Given the description of an element on the screen output the (x, y) to click on. 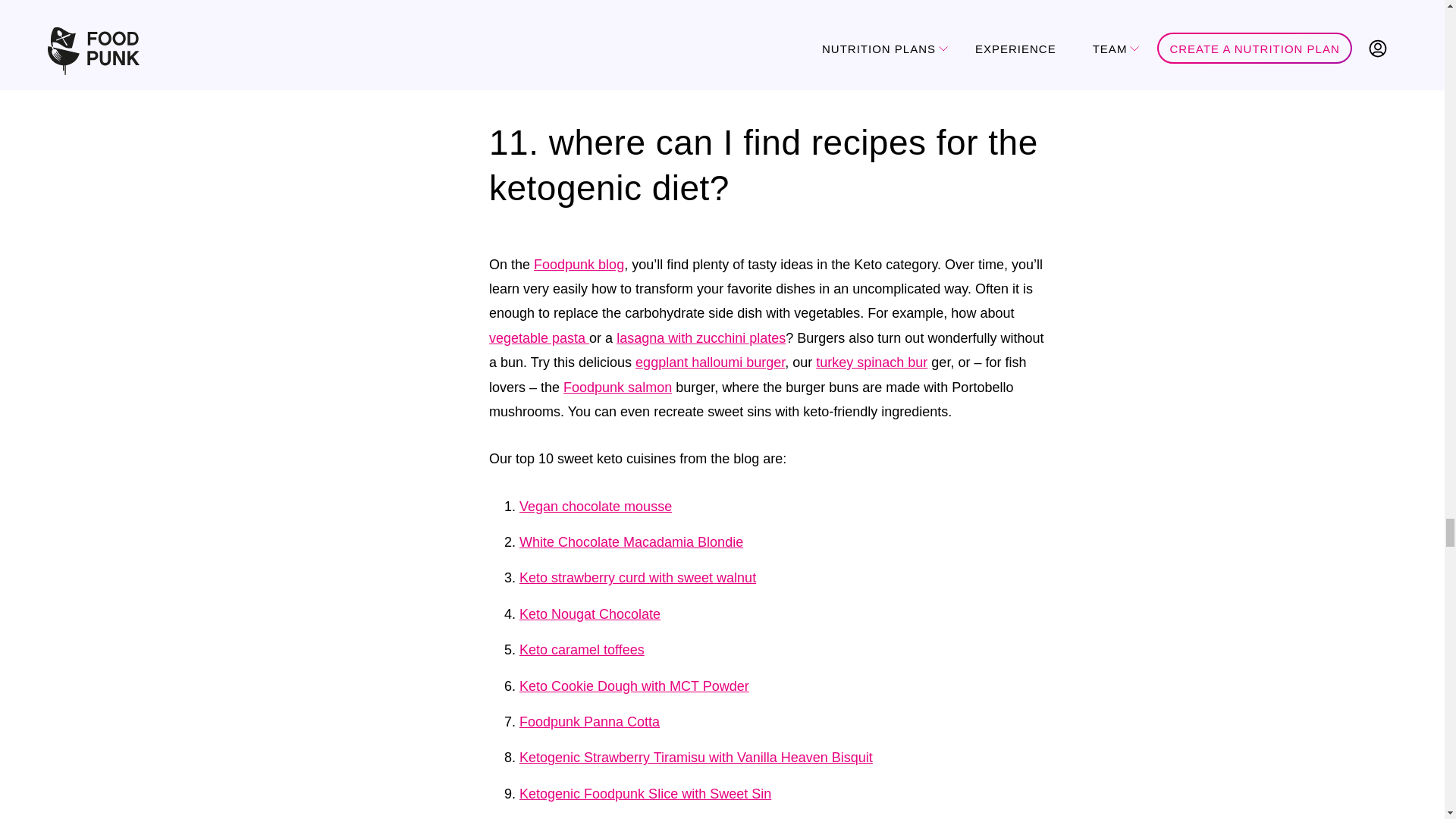
app (992, 42)
Foodpunk blog (579, 264)
individual nutrition plan (577, 42)
success story (761, 12)
